Given the description of an element on the screen output the (x, y) to click on. 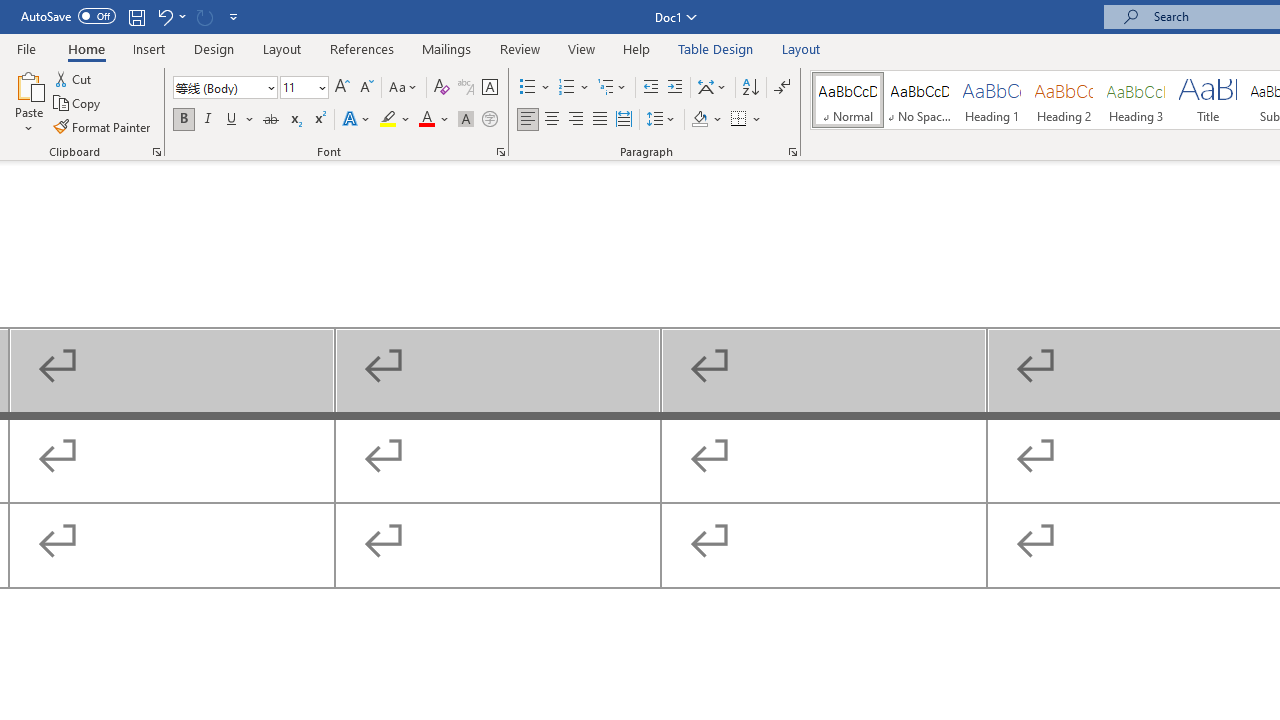
Change Case (404, 87)
Superscript (319, 119)
Text Effects and Typography (357, 119)
Undo Outline Move Up (170, 15)
Justify (599, 119)
Open (320, 87)
Strikethrough (270, 119)
Decrease Indent (650, 87)
